Given the description of an element on the screen output the (x, y) to click on. 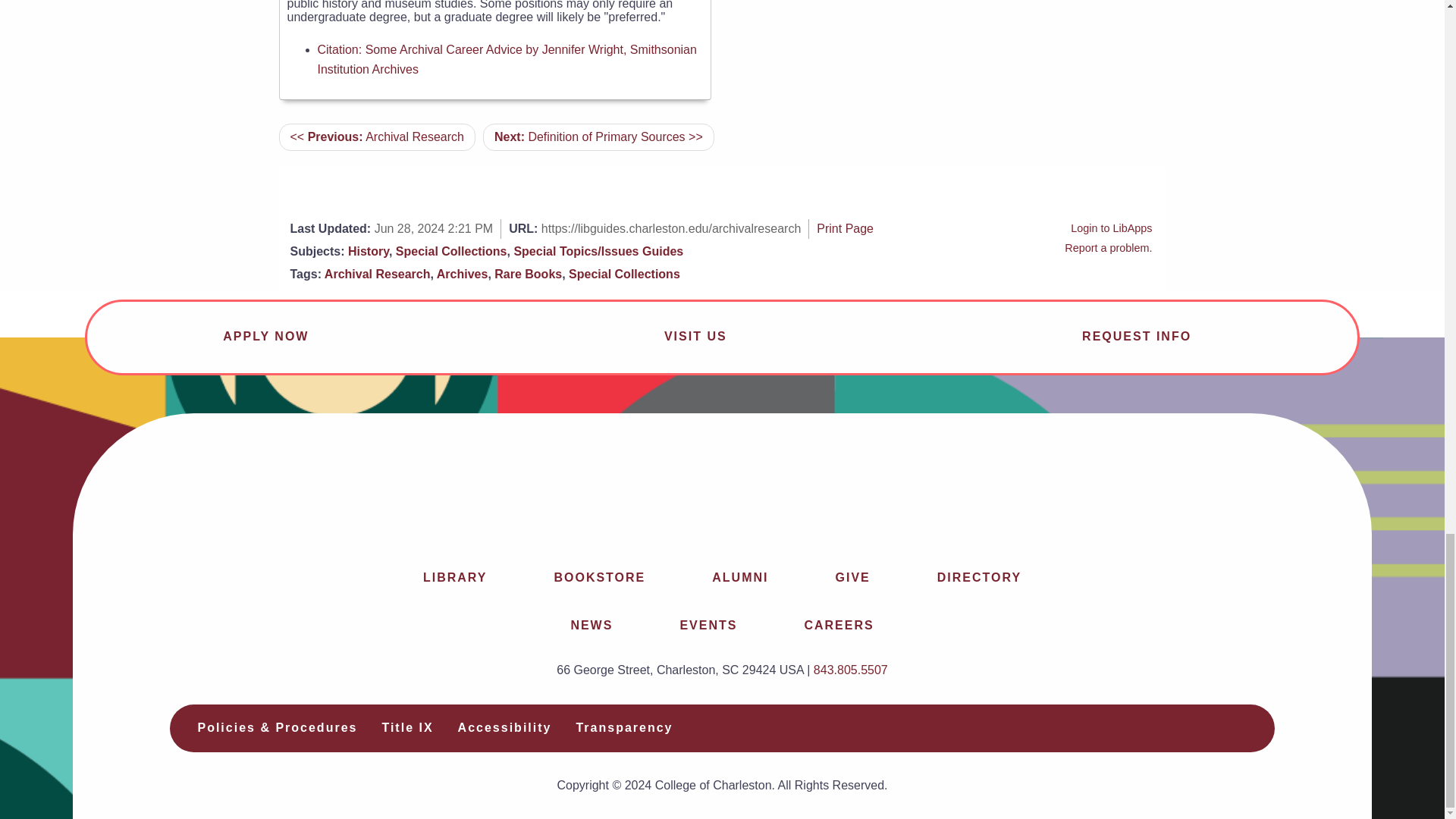
Archives (461, 273)
Special Collections (451, 250)
Rare Books (528, 273)
Report a problem. (1107, 247)
Special Collections (624, 273)
History (367, 250)
Print Page (844, 228)
Login to LibApps (1110, 227)
Archival Research (377, 273)
